Given the description of an element on the screen output the (x, y) to click on. 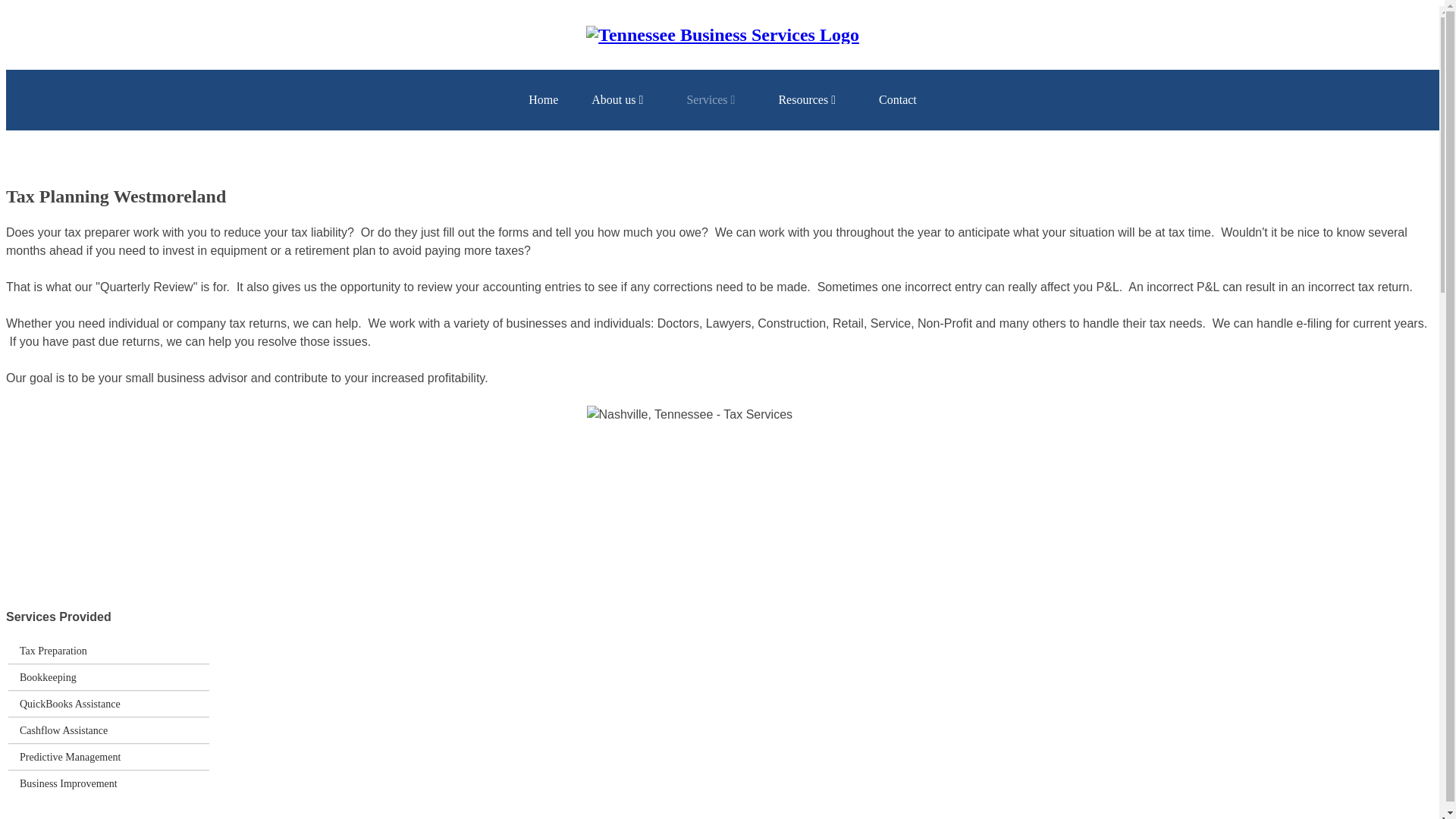
Resources (811, 99)
Predictive Management (70, 756)
Contact (897, 99)
Bookkeeping (48, 677)
Business Improvement (68, 783)
About us (622, 99)
QuickBooks Assistance (70, 703)
Cashflow Assistance (63, 730)
Services (715, 99)
Home (543, 99)
tax (722, 484)
Tax Preparation (53, 650)
